Given the description of an element on the screen output the (x, y) to click on. 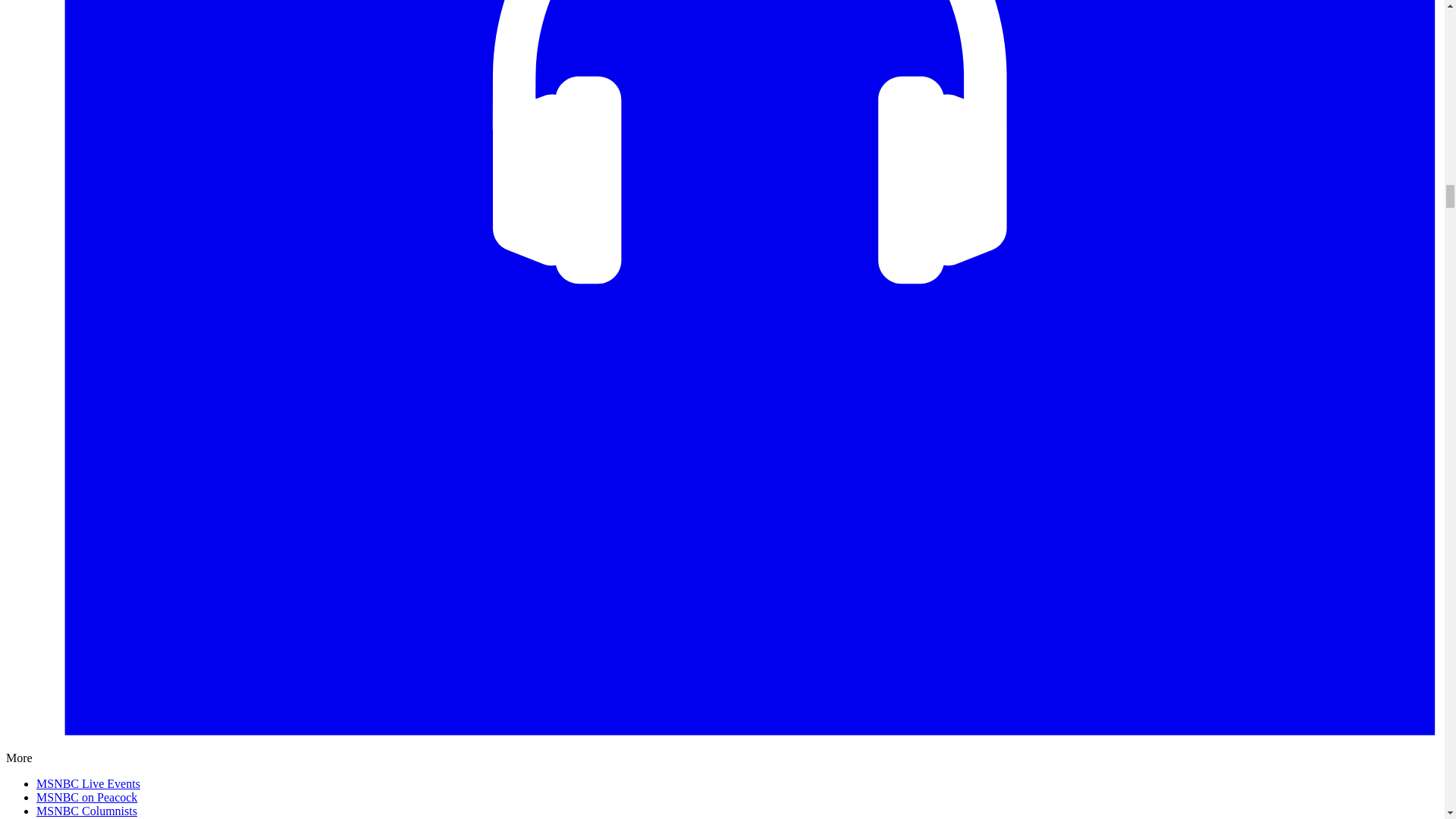
MSNBC on Peacock (86, 797)
MSNBC Live Events (87, 783)
